Given the description of an element on the screen output the (x, y) to click on. 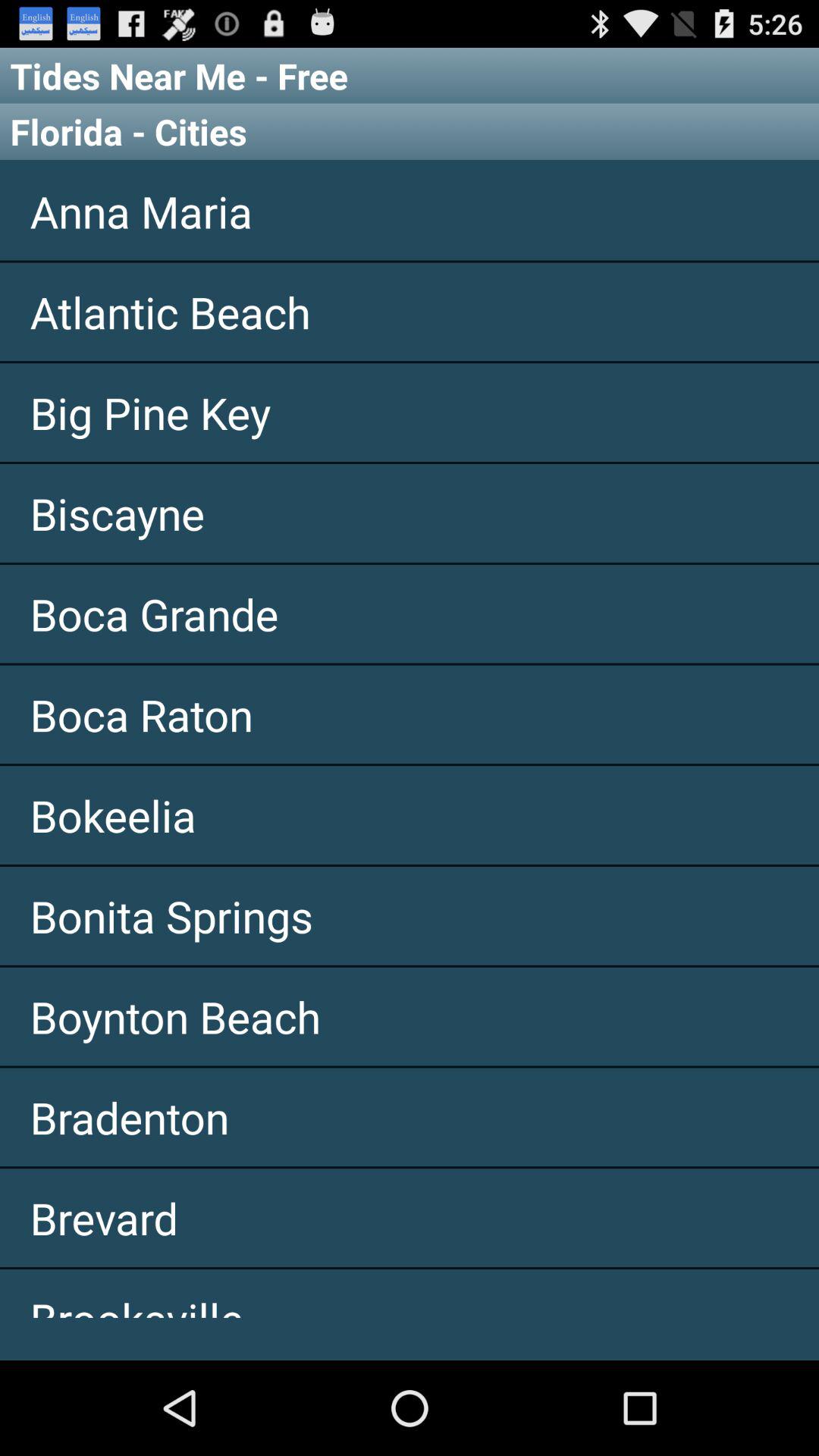
jump until bonita springs (409, 915)
